Given the description of an element on the screen output the (x, y) to click on. 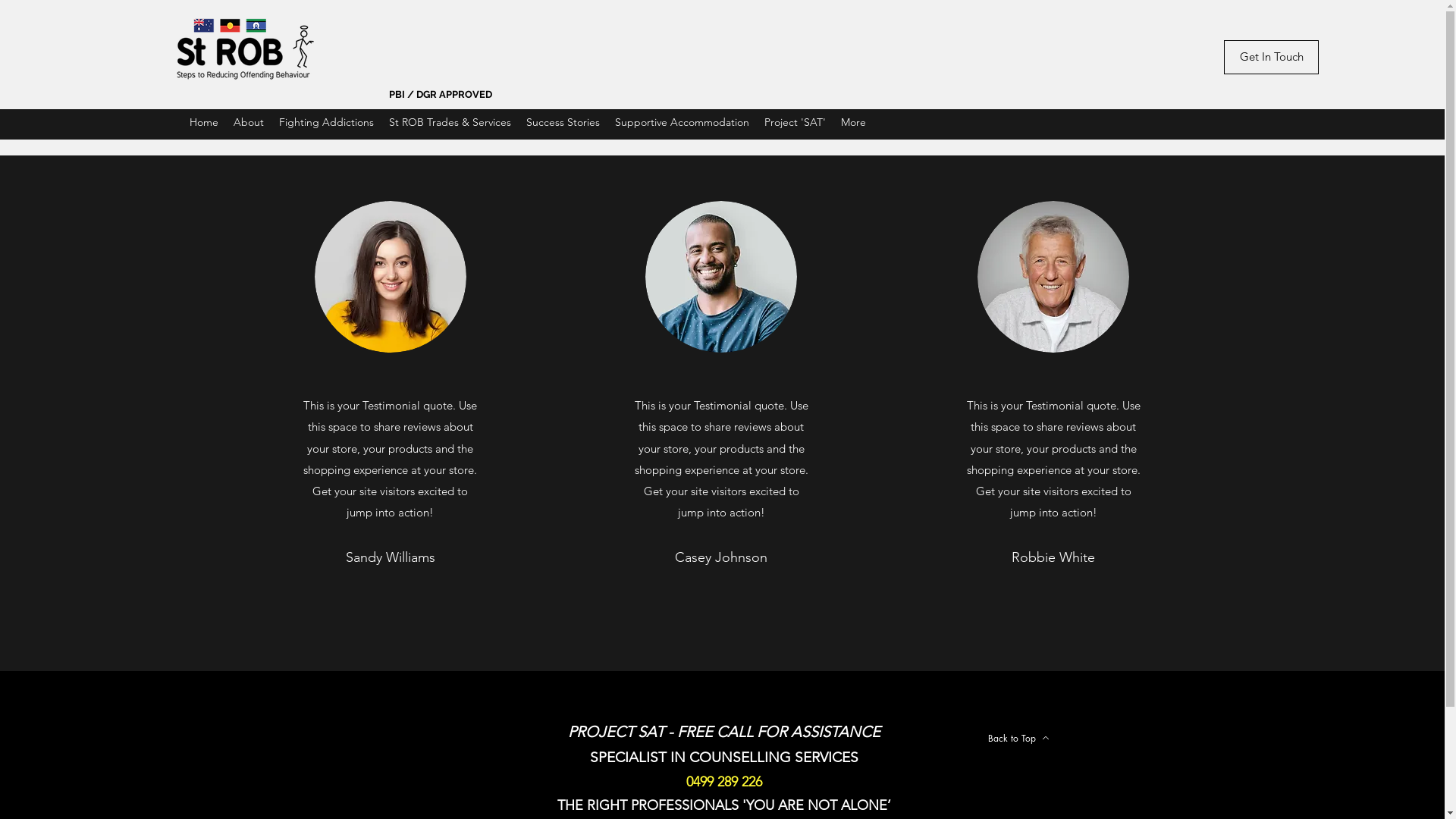
Supportive Accommodation Element type: text (681, 123)
Fighting Addictions Element type: text (326, 123)
Home Element type: text (203, 123)
Get In Touch Element type: text (1270, 57)
Success Stories Element type: text (562, 123)
Back to Top Element type: text (1018, 737)
St ROB Trades & Services Element type: text (449, 123)
Project 'SAT' Element type: text (794, 123)
About Element type: text (248, 123)
